Given the description of an element on the screen output the (x, y) to click on. 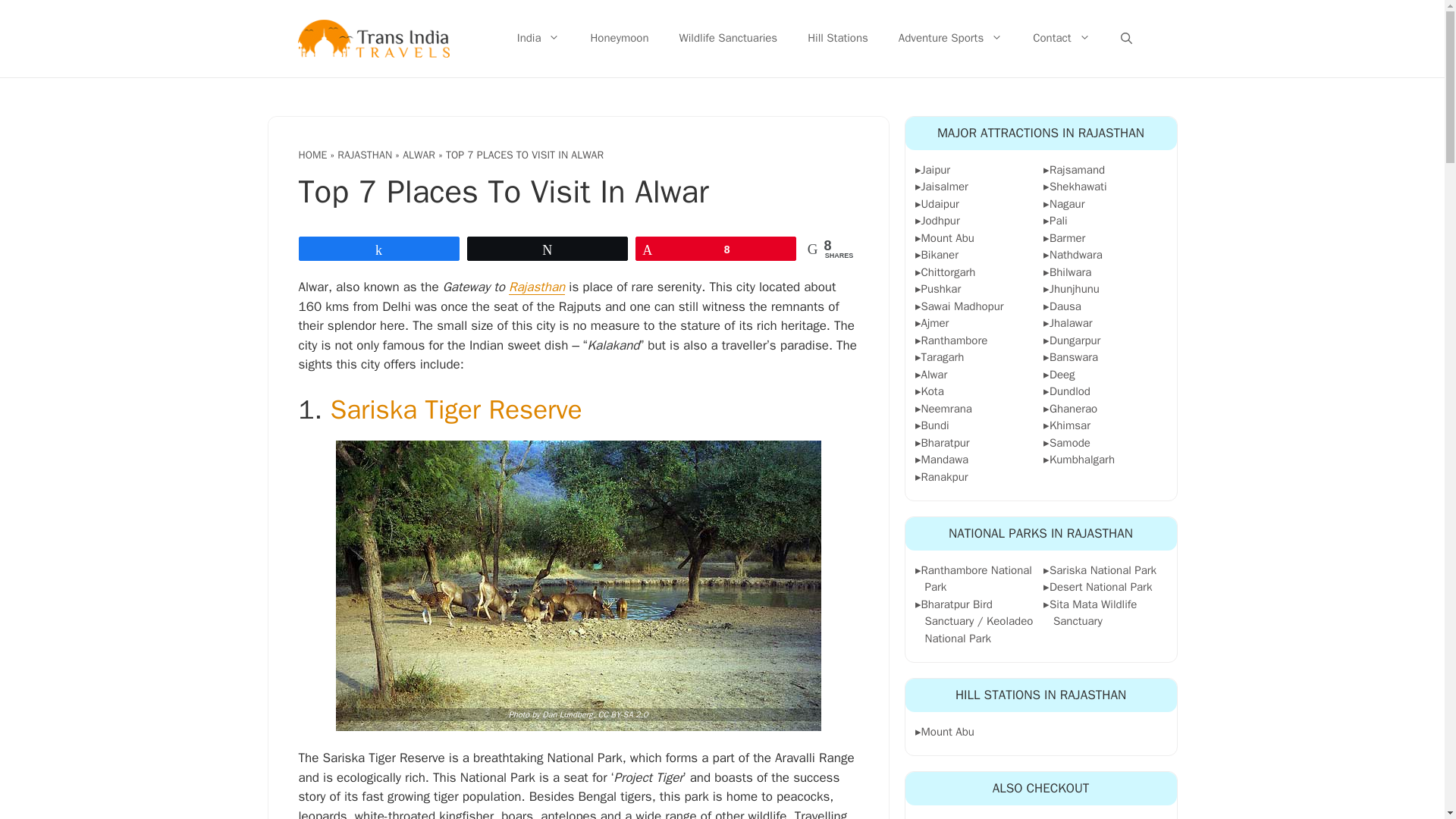
India (538, 38)
